Given the description of an element on the screen output the (x, y) to click on. 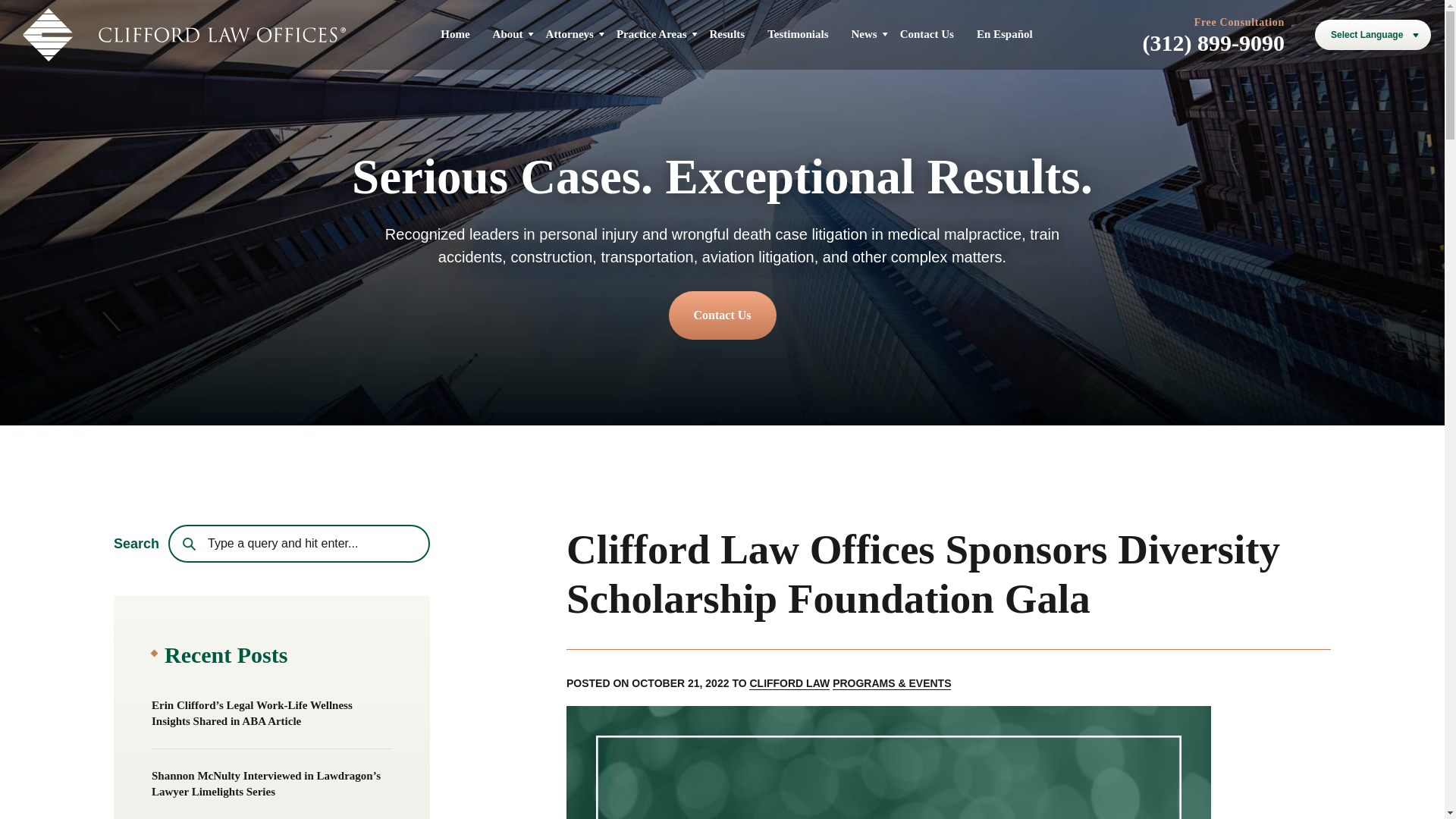
Attorneys (570, 33)
Contact Us (722, 315)
Home (454, 33)
Testimonials (797, 33)
Results (727, 33)
Contact Us (926, 33)
News (863, 33)
About (507, 33)
Practice Areas (651, 33)
CLIFFORD LAW (789, 683)
